Given the description of an element on the screen output the (x, y) to click on. 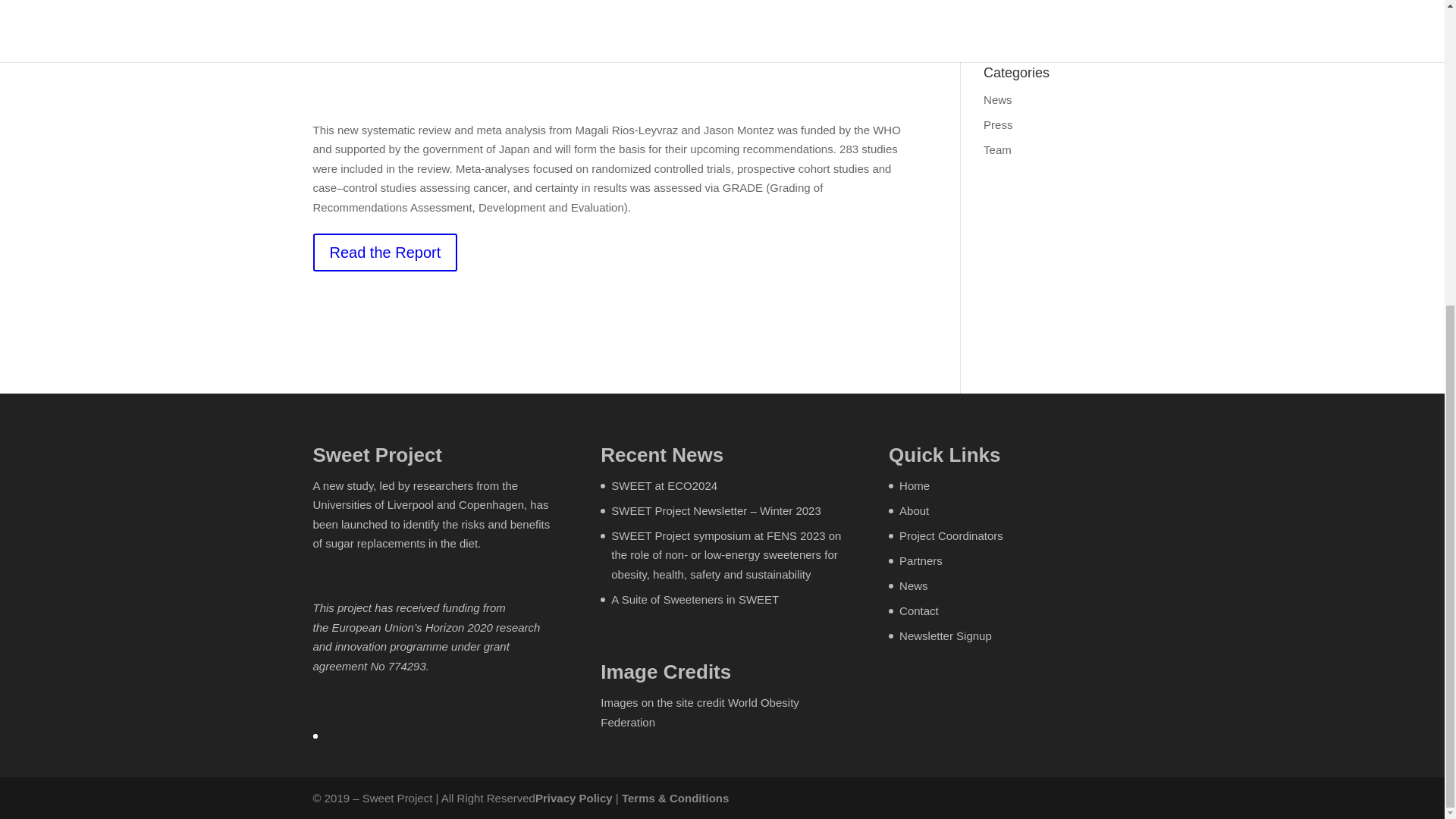
World Obesity Federation (699, 712)
Home (914, 485)
Partners (920, 560)
Read the Report (385, 252)
News (913, 585)
A Suite of Sweeteners in SWEET (694, 599)
News (997, 99)
SWEET at ECO2024 (664, 485)
Press (997, 124)
Team (997, 149)
Project Coordinators (951, 535)
About (913, 510)
Contact (919, 610)
